Given the description of an element on the screen output the (x, y) to click on. 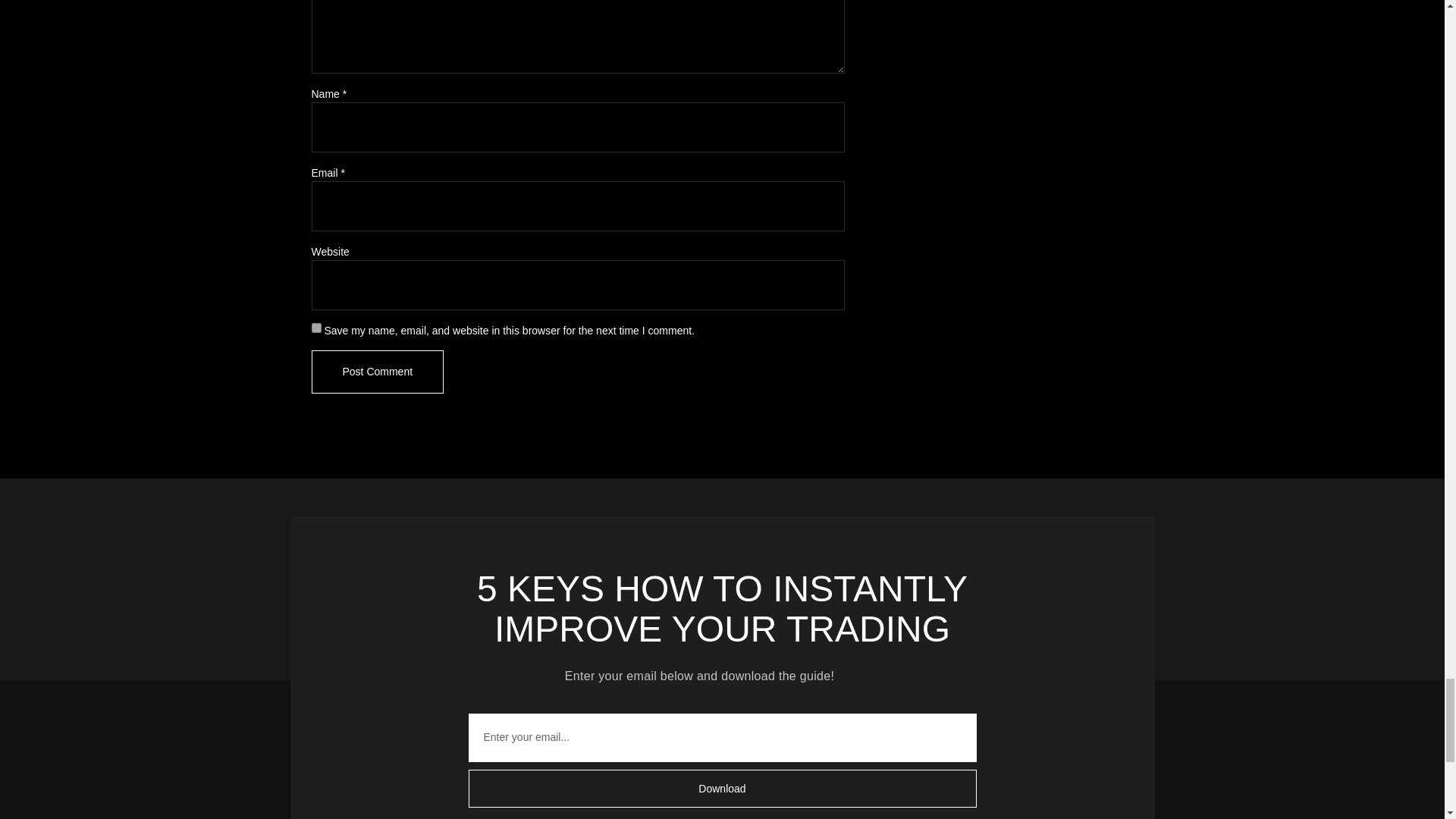
Enter your email below and download the guide! (721, 681)
Download (721, 760)
Post Comment (377, 371)
Post Comment (721, 609)
yes (377, 371)
